Given the description of an element on the screen output the (x, y) to click on. 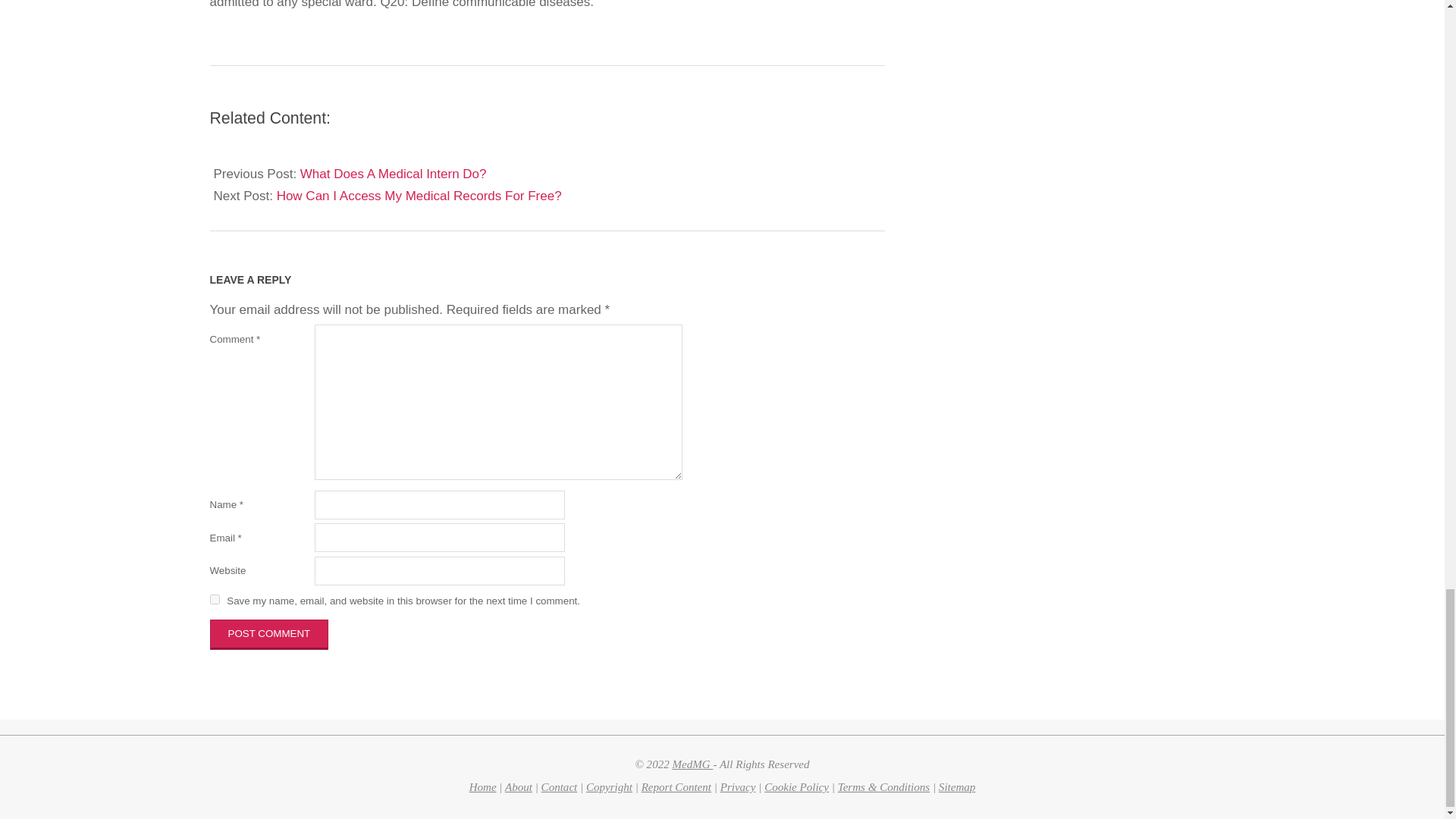
Report Content (676, 787)
Copyright (608, 787)
How Can I Access My Medical Records For Free? (419, 196)
Contact (559, 787)
Post Comment (269, 634)
yes (214, 599)
About (518, 787)
MedMG (692, 764)
What Does A Medical Intern Do? (392, 173)
Home (482, 787)
Post Comment (269, 634)
